Given the description of an element on the screen output the (x, y) to click on. 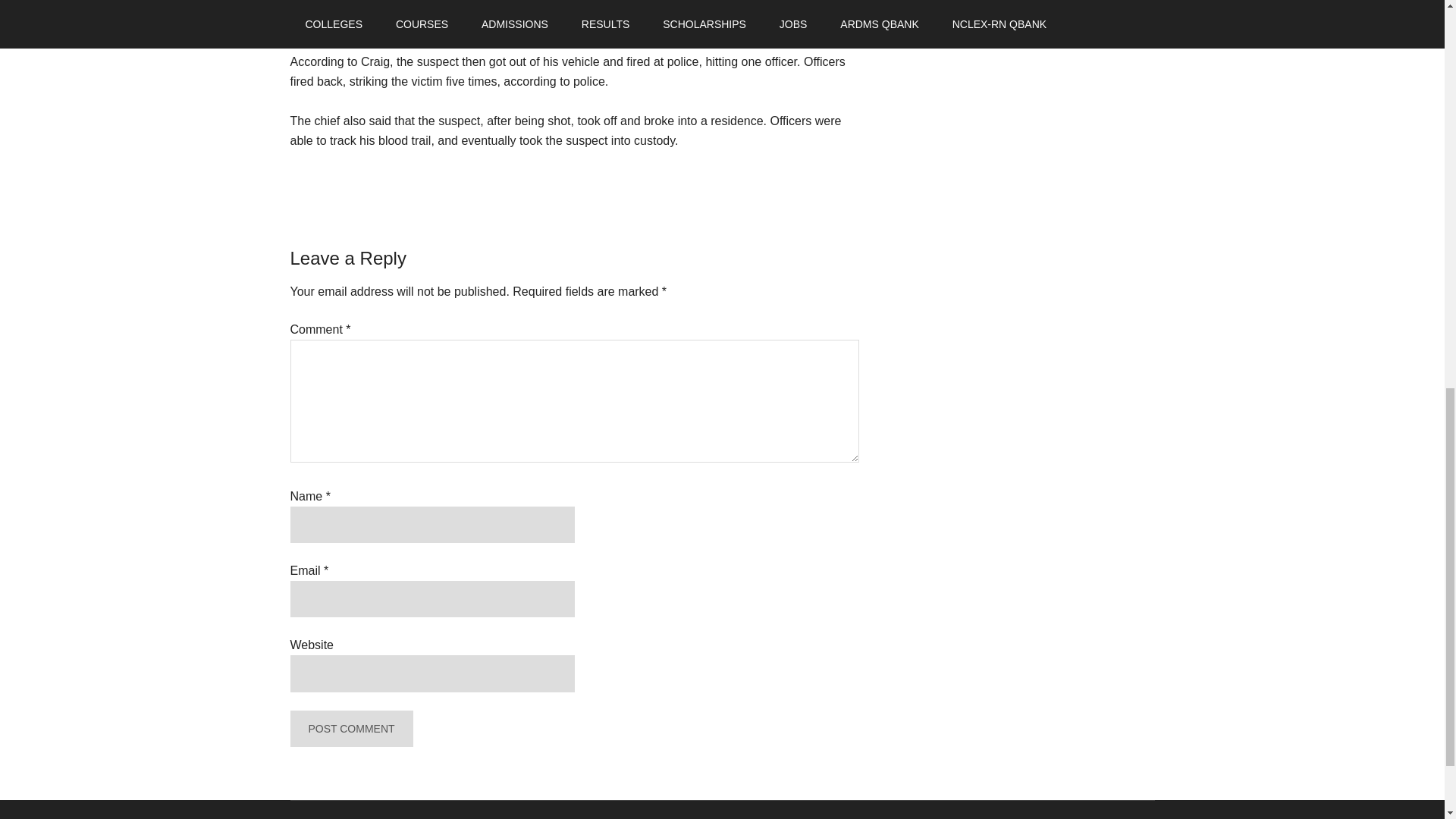
Post Comment (350, 728)
Post Comment (350, 728)
